Given the description of an element on the screen output the (x, y) to click on. 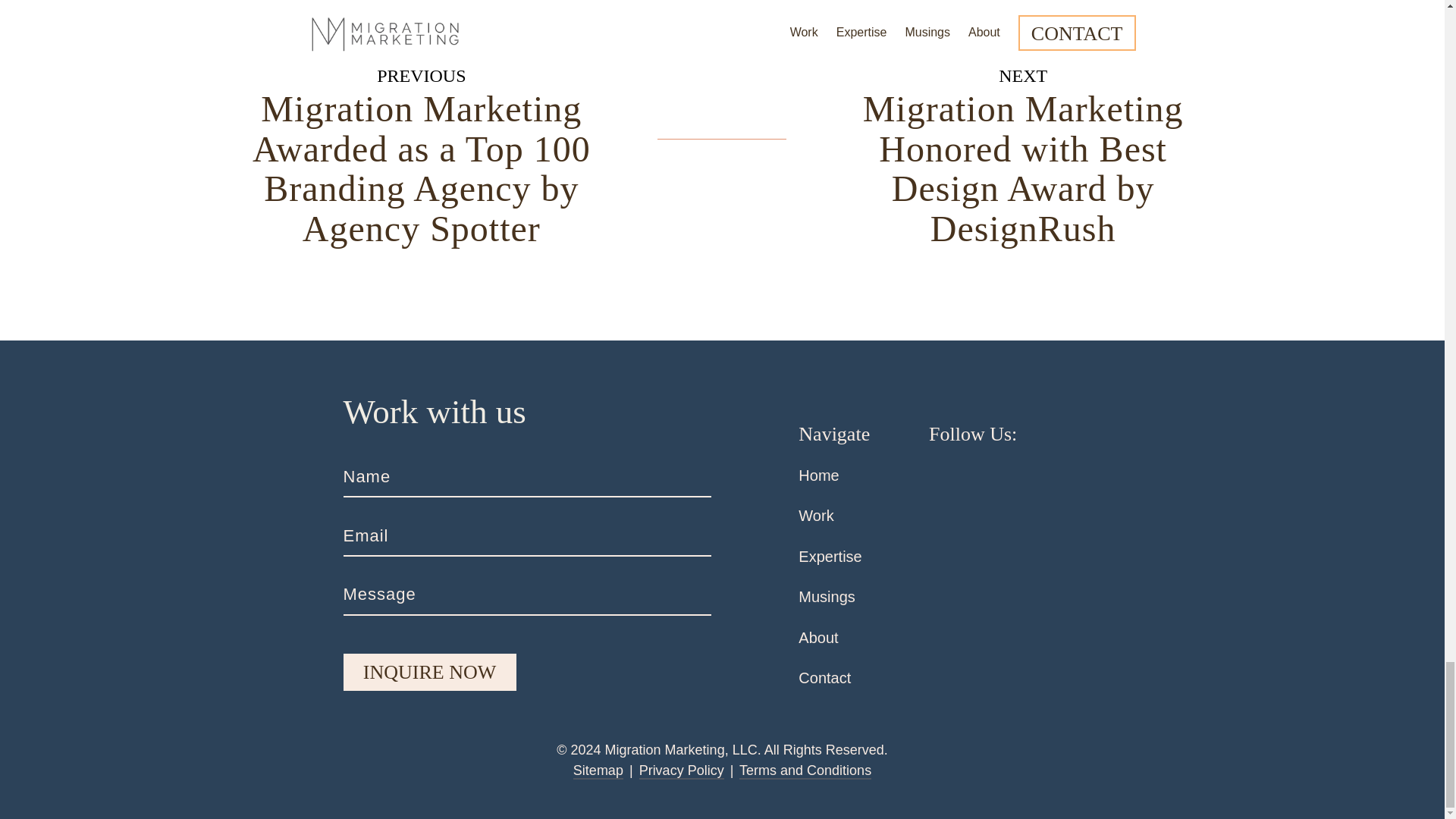
Work (814, 515)
Musings (825, 596)
Expertise (829, 556)
Home (817, 475)
INQUIRE NOW (428, 671)
Contact (823, 677)
Privacy Policy (681, 770)
Sitemap (598, 770)
Terms and Conditions (804, 770)
About (817, 637)
